Given the description of an element on the screen output the (x, y) to click on. 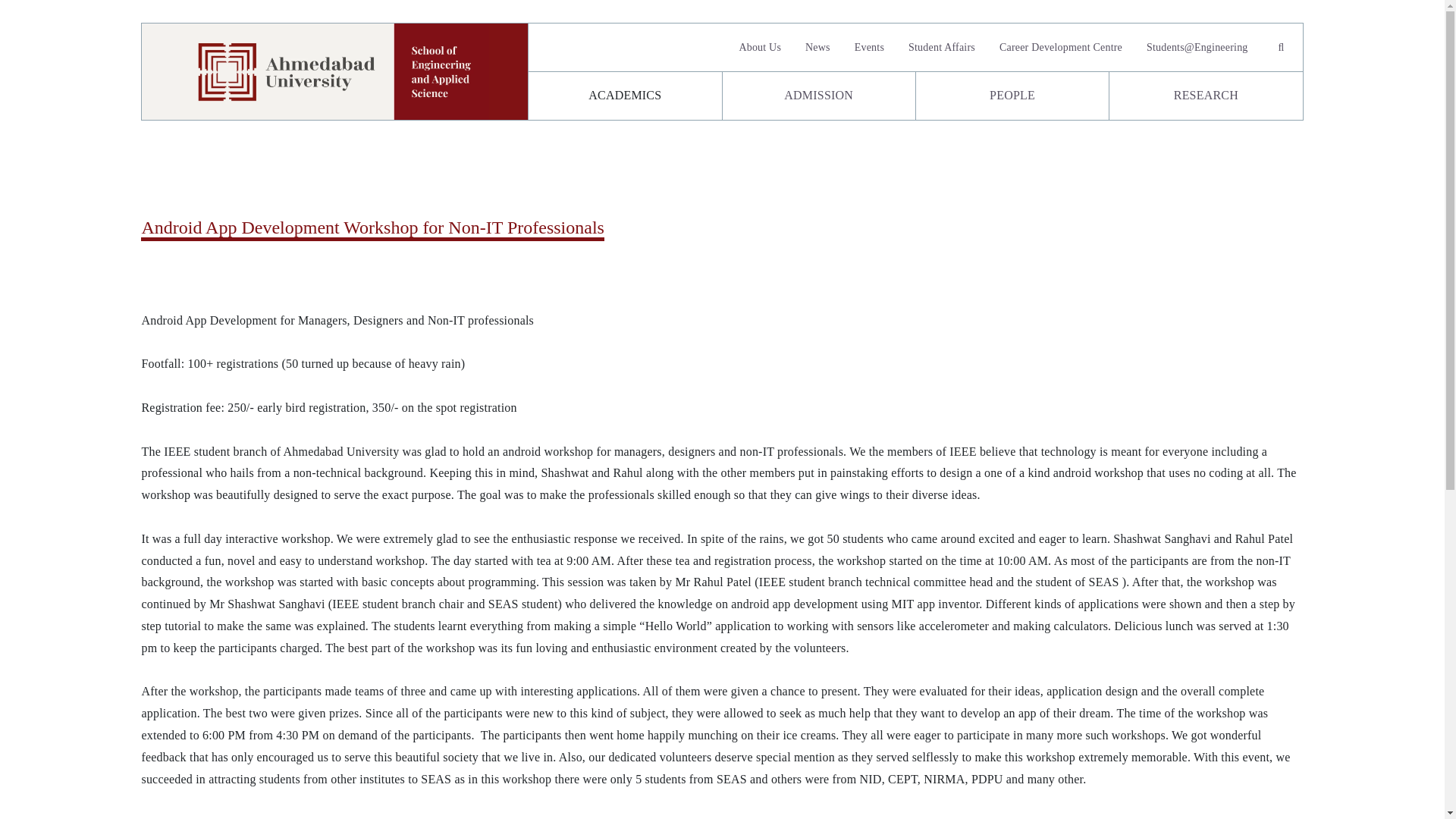
Events (869, 47)
RESEARCH (1205, 96)
About Us (759, 47)
Career Development Centre (1060, 47)
ACADEMICS (624, 96)
News (818, 47)
Student Affairs (941, 47)
ADMISSION (818, 96)
PEOPLE (1011, 96)
